Given the description of an element on the screen output the (x, y) to click on. 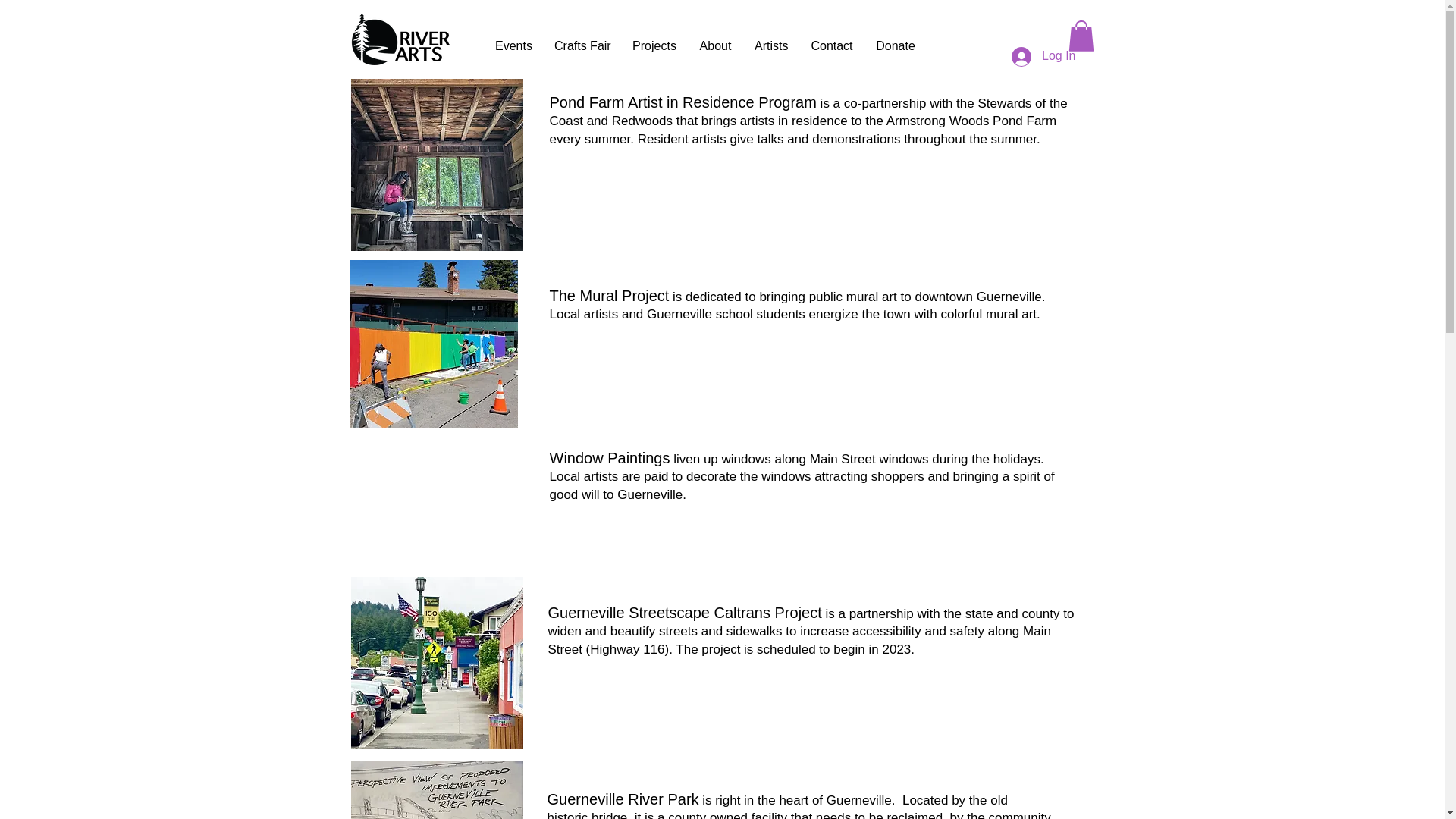
About (714, 46)
Projects (654, 46)
Log In (1043, 56)
Contact (831, 46)
Events (513, 46)
Donate (895, 46)
Crafts Fair (582, 46)
Artists (770, 46)
